Given the description of an element on the screen output the (x, y) to click on. 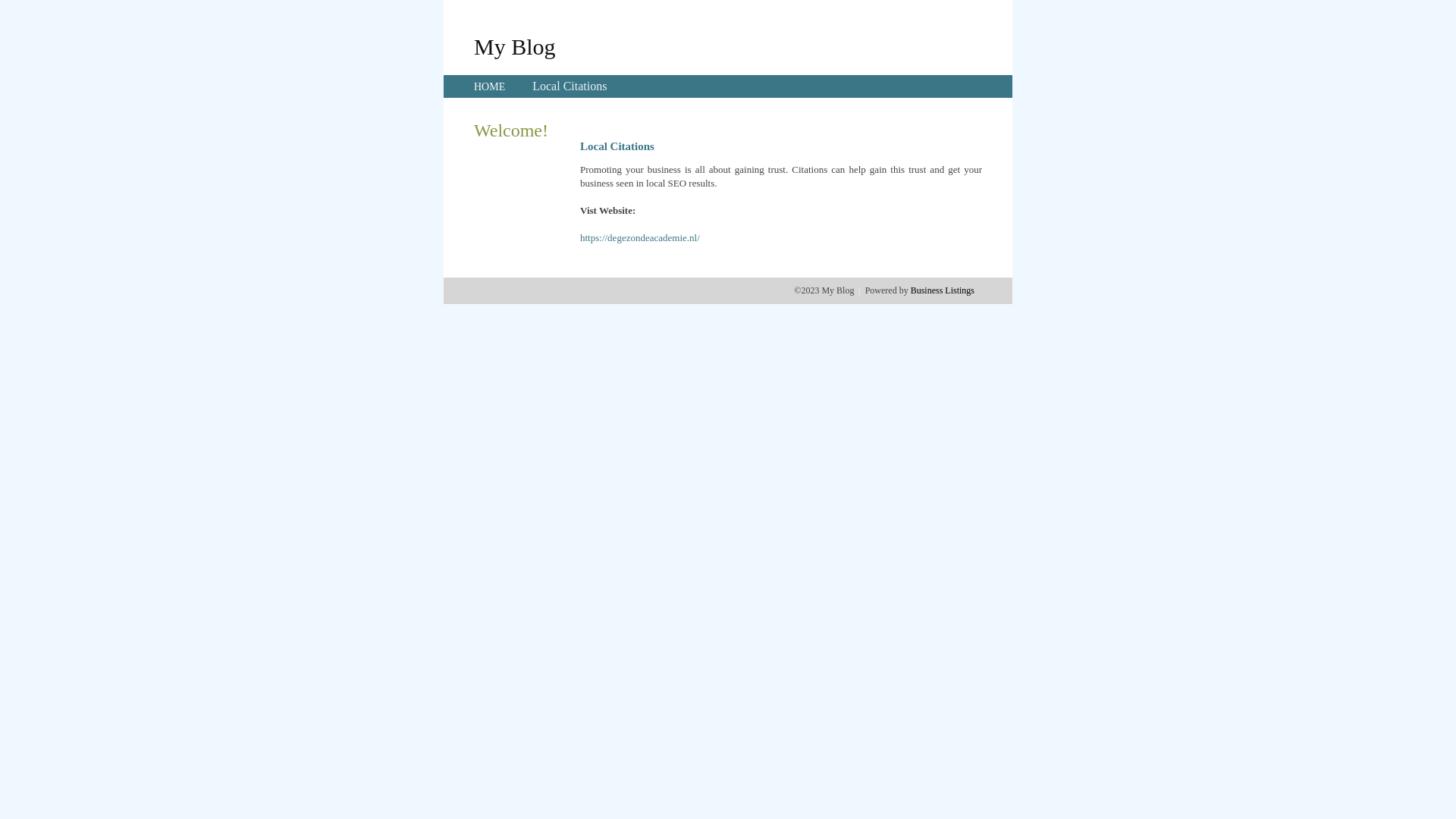
Local Citations Element type: text (569, 85)
HOME Element type: text (489, 86)
Business Listings Element type: text (942, 290)
My Blog Element type: text (514, 46)
https://degezondeacademie.nl/ Element type: text (639, 237)
